Given the description of an element on the screen output the (x, y) to click on. 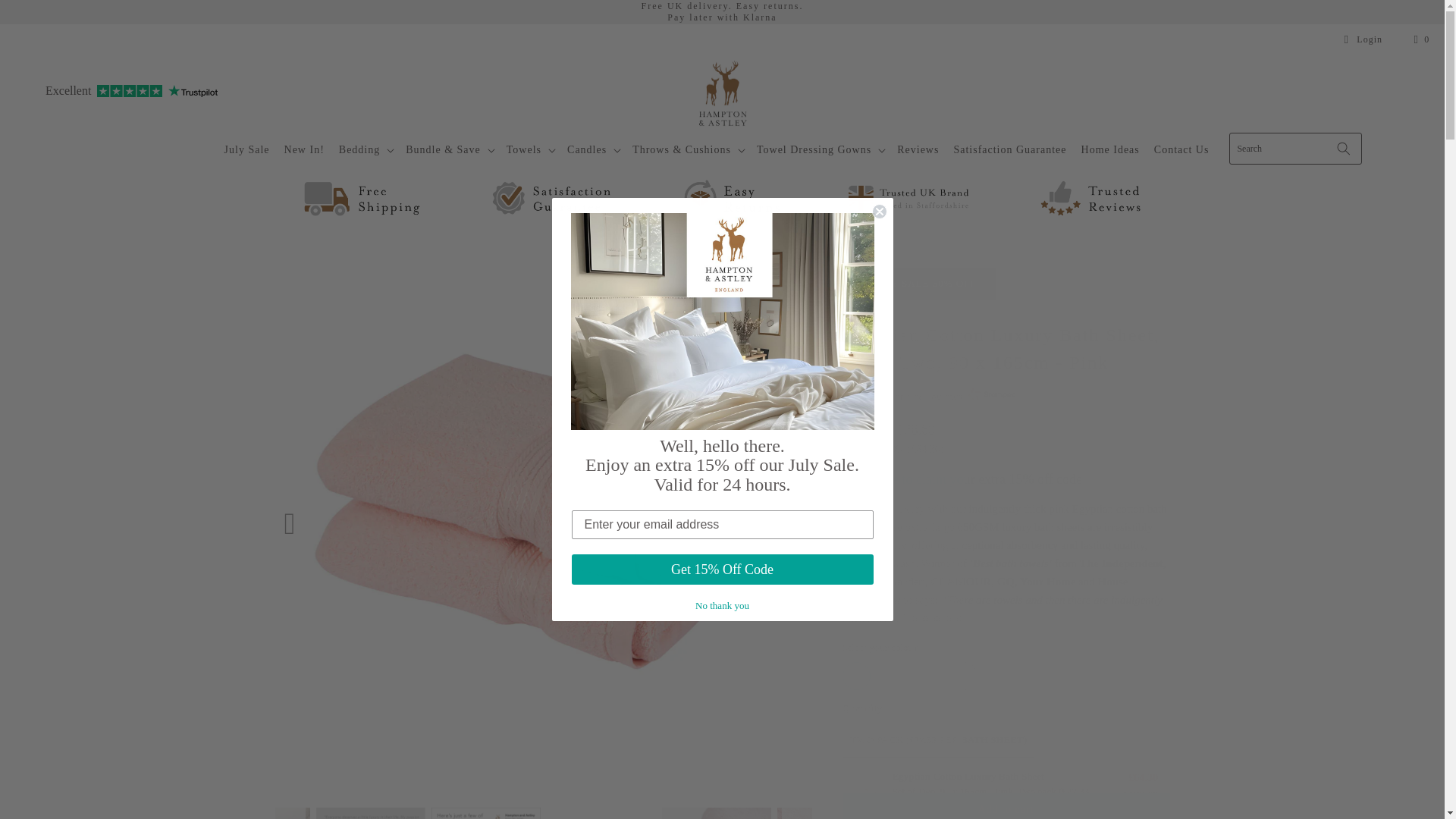
0 (1129, 814)
Skip to content (45, 16)
